Given the description of an element on the screen output the (x, y) to click on. 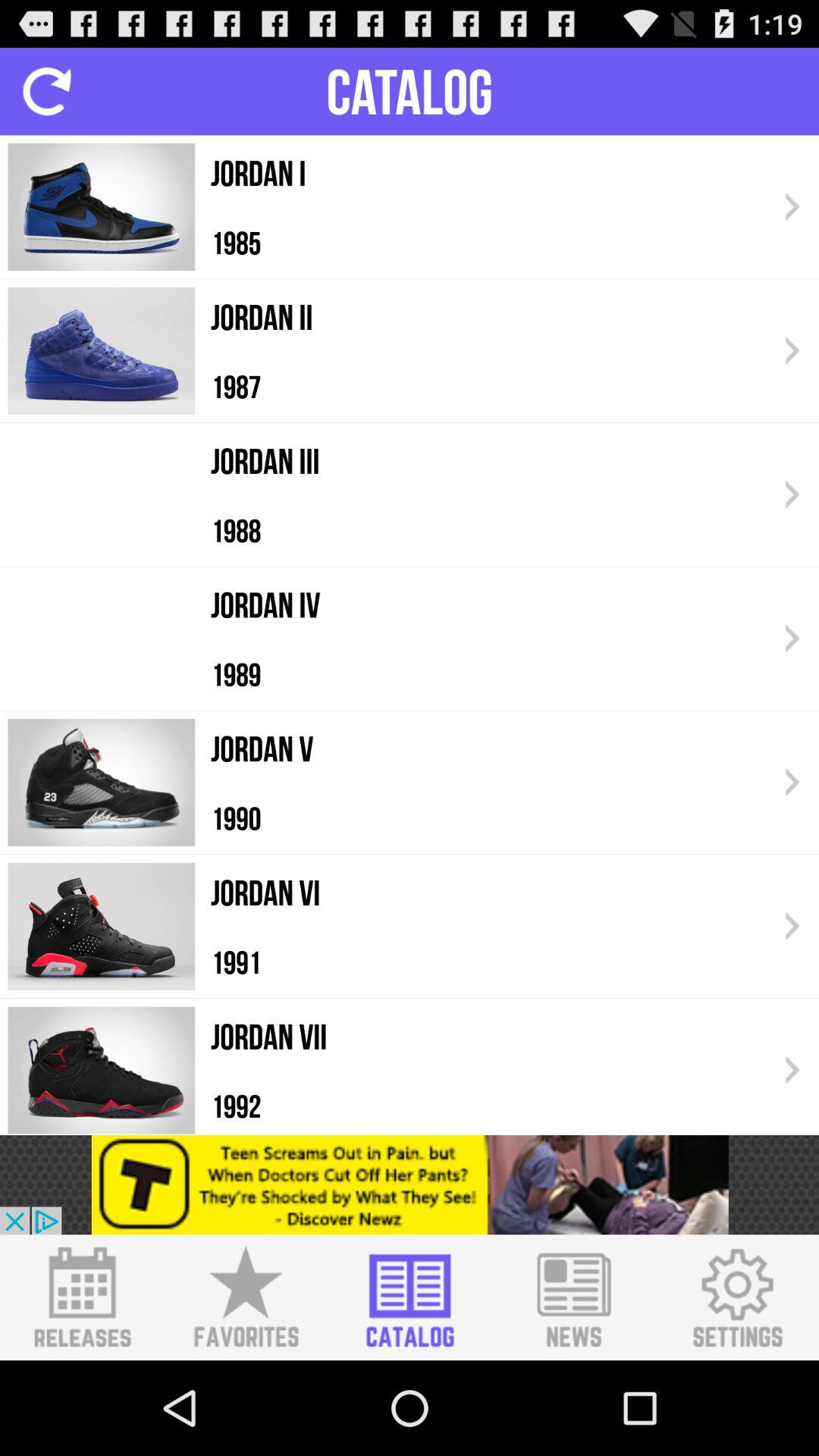
toggle to replay (46, 91)
